Given the description of an element on the screen output the (x, y) to click on. 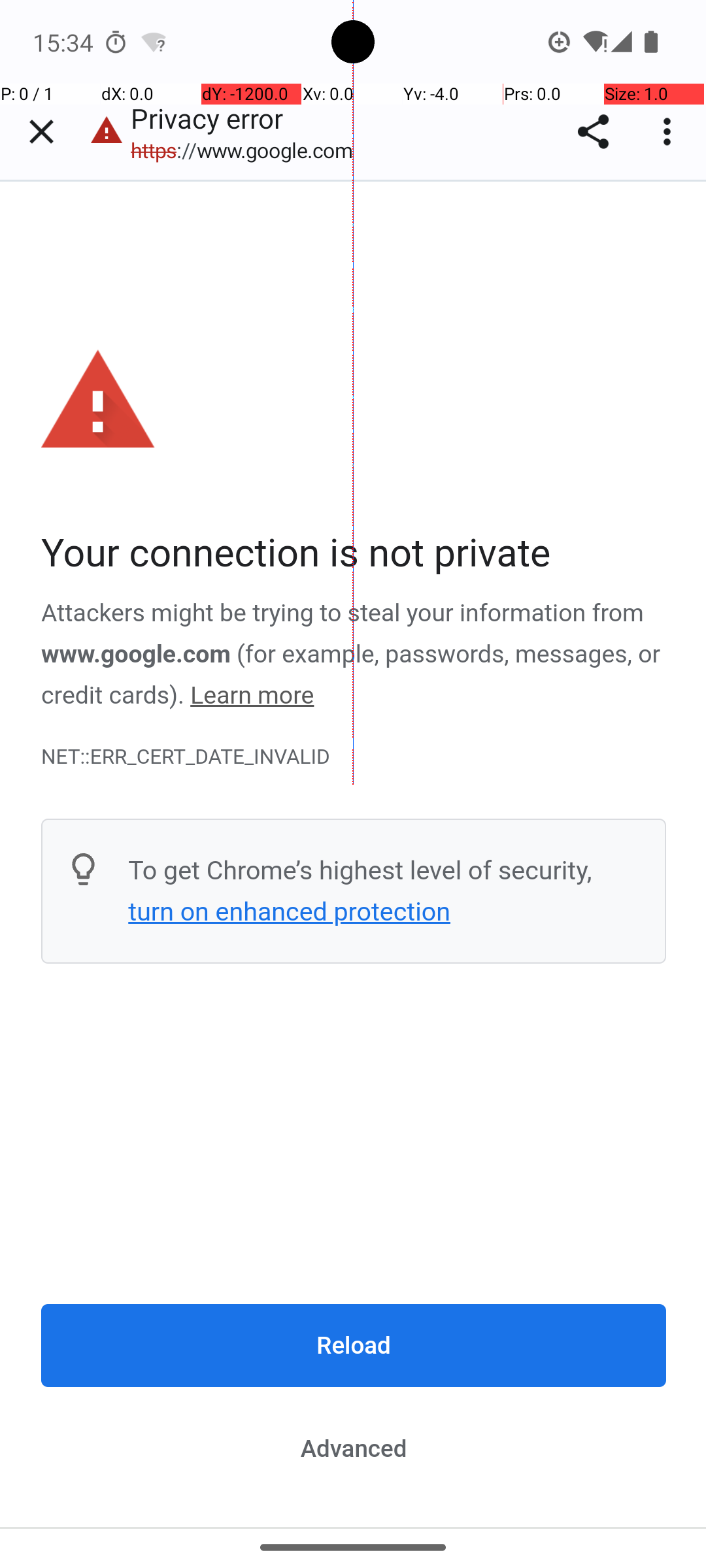
https://www.google.com Element type: android.widget.TextView (248, 149)
www.google.com Element type: android.widget.TextView (136, 653)
